Given the description of an element on the screen output the (x, y) to click on. 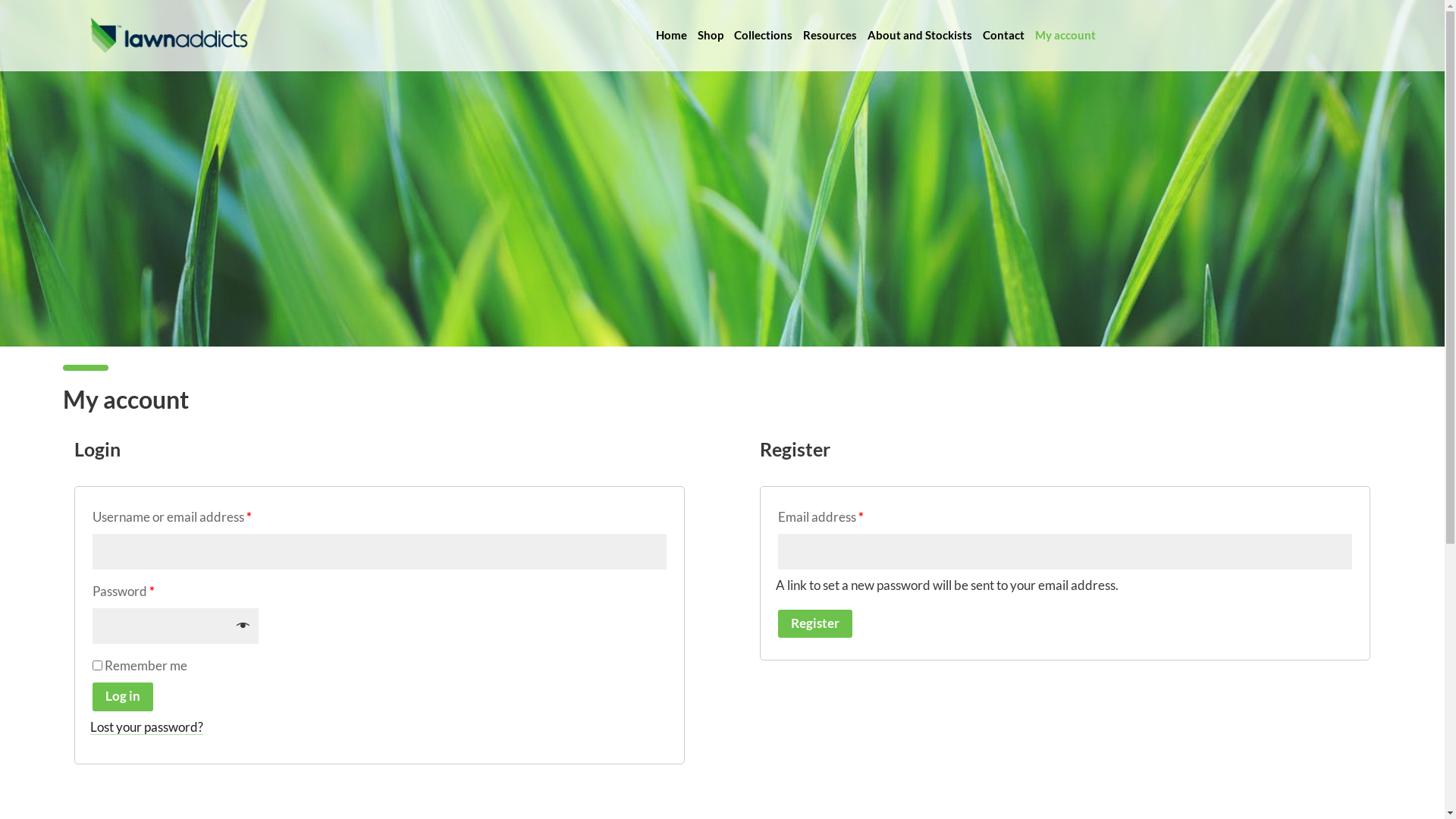
Lawn Addicts Element type: hover (168, 34)
Lost your password? Element type: text (146, 726)
Register Element type: text (815, 623)
My account Element type: text (1065, 35)
Collections Element type: text (763, 35)
About and Stockists Element type: text (919, 35)
Shop Element type: text (710, 35)
Resources Element type: text (829, 35)
Log in Element type: text (122, 696)
Home Element type: text (671, 35)
Contact Element type: text (1003, 35)
